Given the description of an element on the screen output the (x, y) to click on. 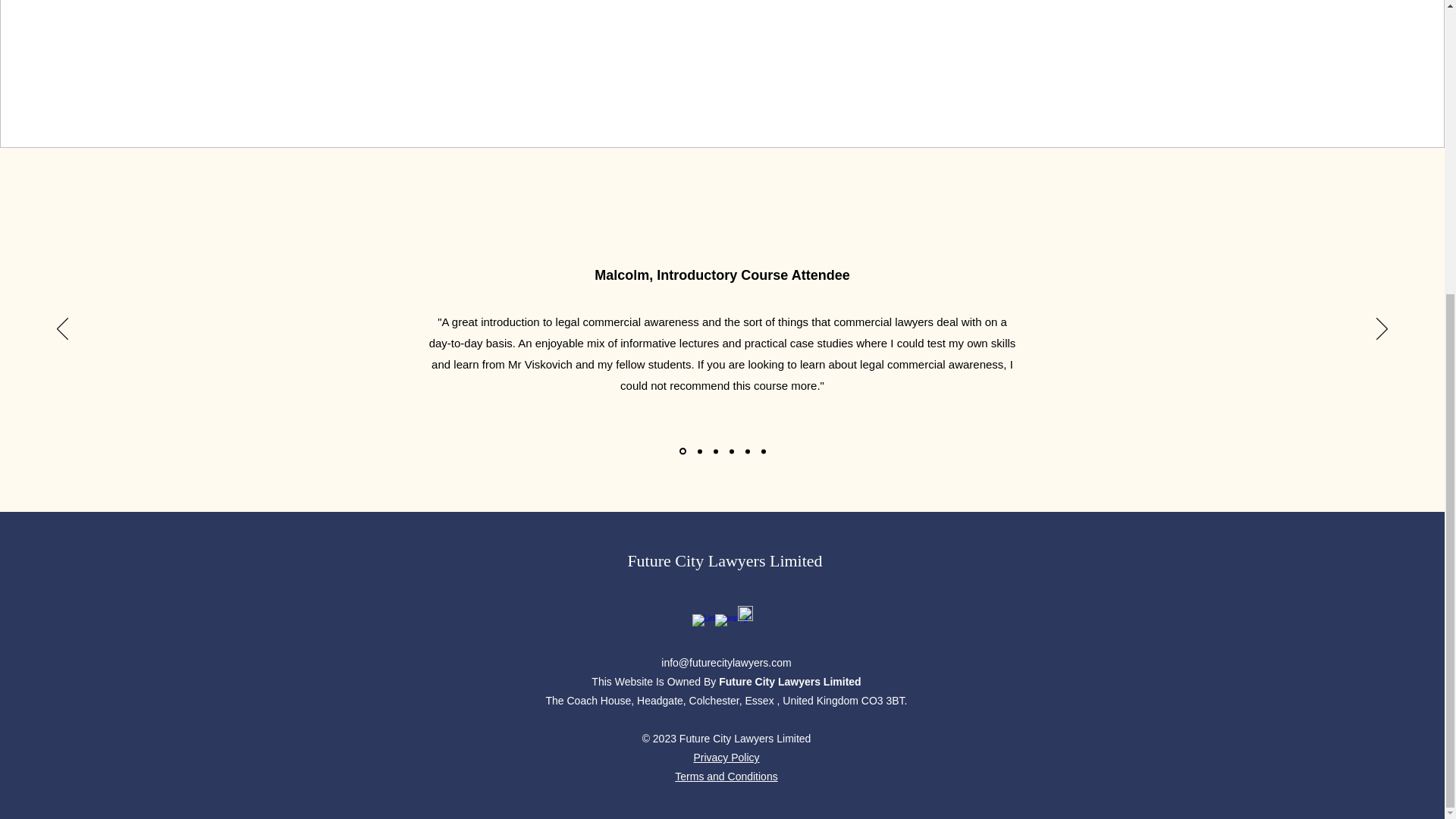
Terms and Conditions (726, 776)
Future City Lawyers Limited (724, 560)
Privacy Policy (725, 757)
